Given the description of an element on the screen output the (x, y) to click on. 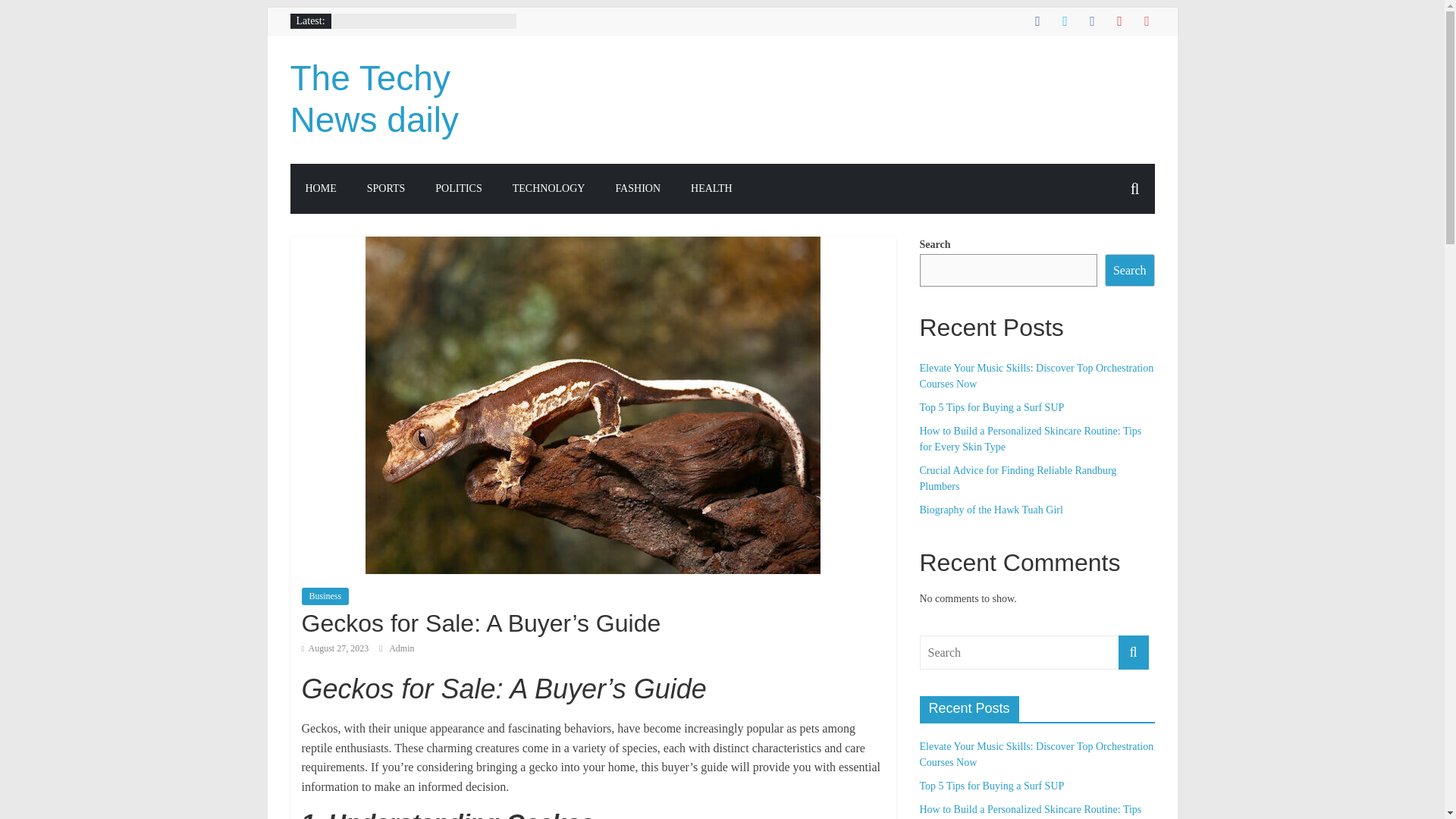
FASHION (637, 188)
The Techy News daily (373, 98)
Search (1129, 270)
Admin (400, 647)
HOME (319, 188)
Top 5 Tips for Buying a Surf SUP (991, 785)
Biography of the Hawk Tuah Girl (990, 509)
Admin (400, 647)
SPORTS (386, 188)
Top 5 Tips for Buying a Surf SUP (991, 407)
TECHNOLOGY (548, 188)
